Given the description of an element on the screen output the (x, y) to click on. 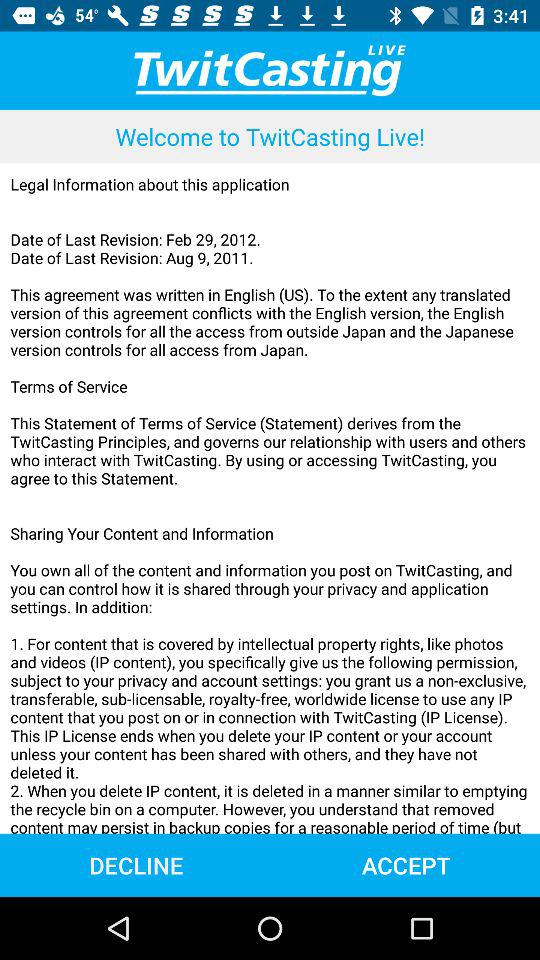
turn on accept (406, 864)
